Given the description of an element on the screen output the (x, y) to click on. 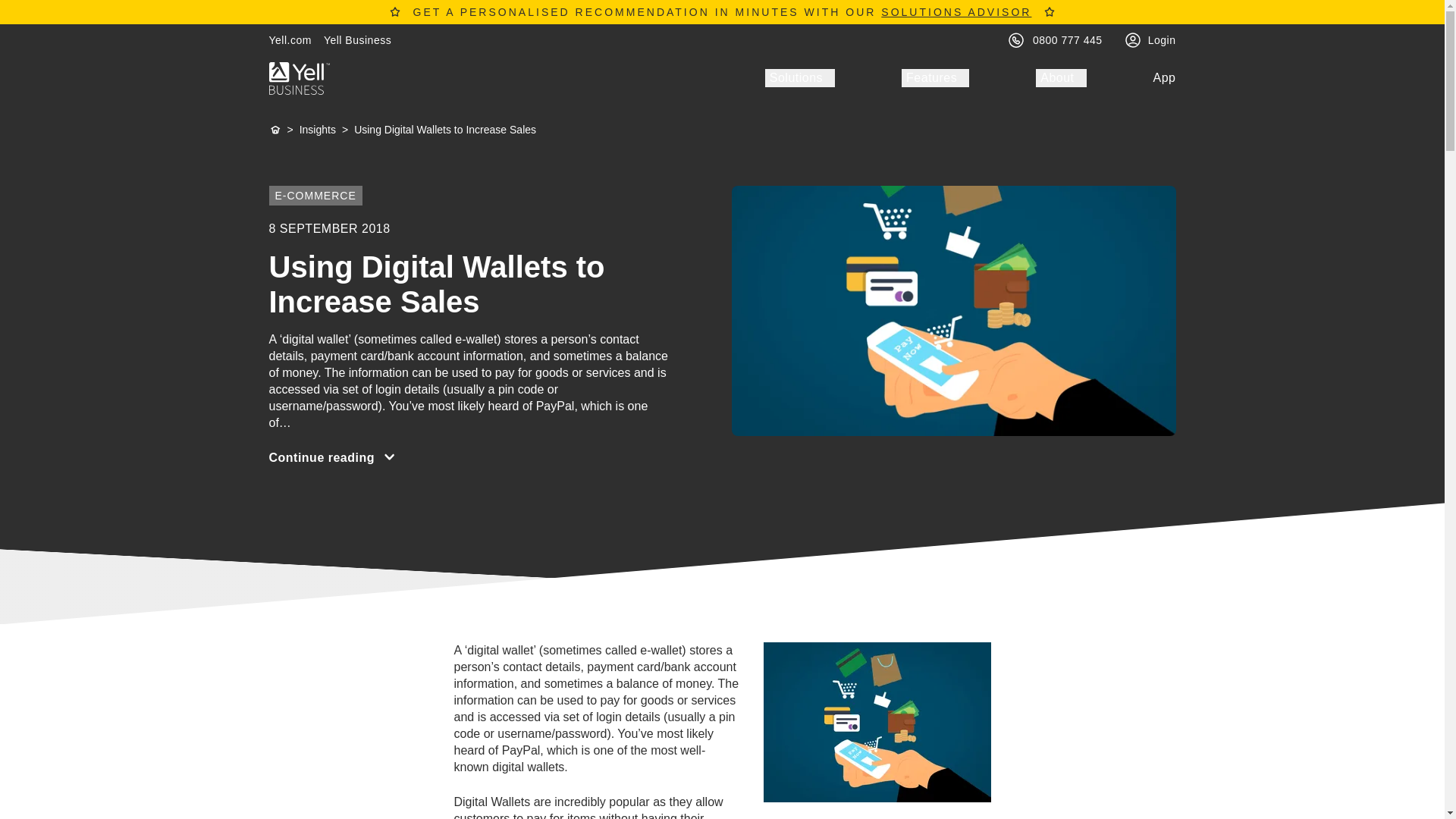
About (1060, 77)
Features (935, 77)
SOLUTIONS ADVISOR (955, 11)
Solutions (799, 77)
0800 777 445 (1067, 39)
Yell Business (357, 39)
Login (1162, 39)
Yell.com (289, 39)
